Given the description of an element on the screen output the (x, y) to click on. 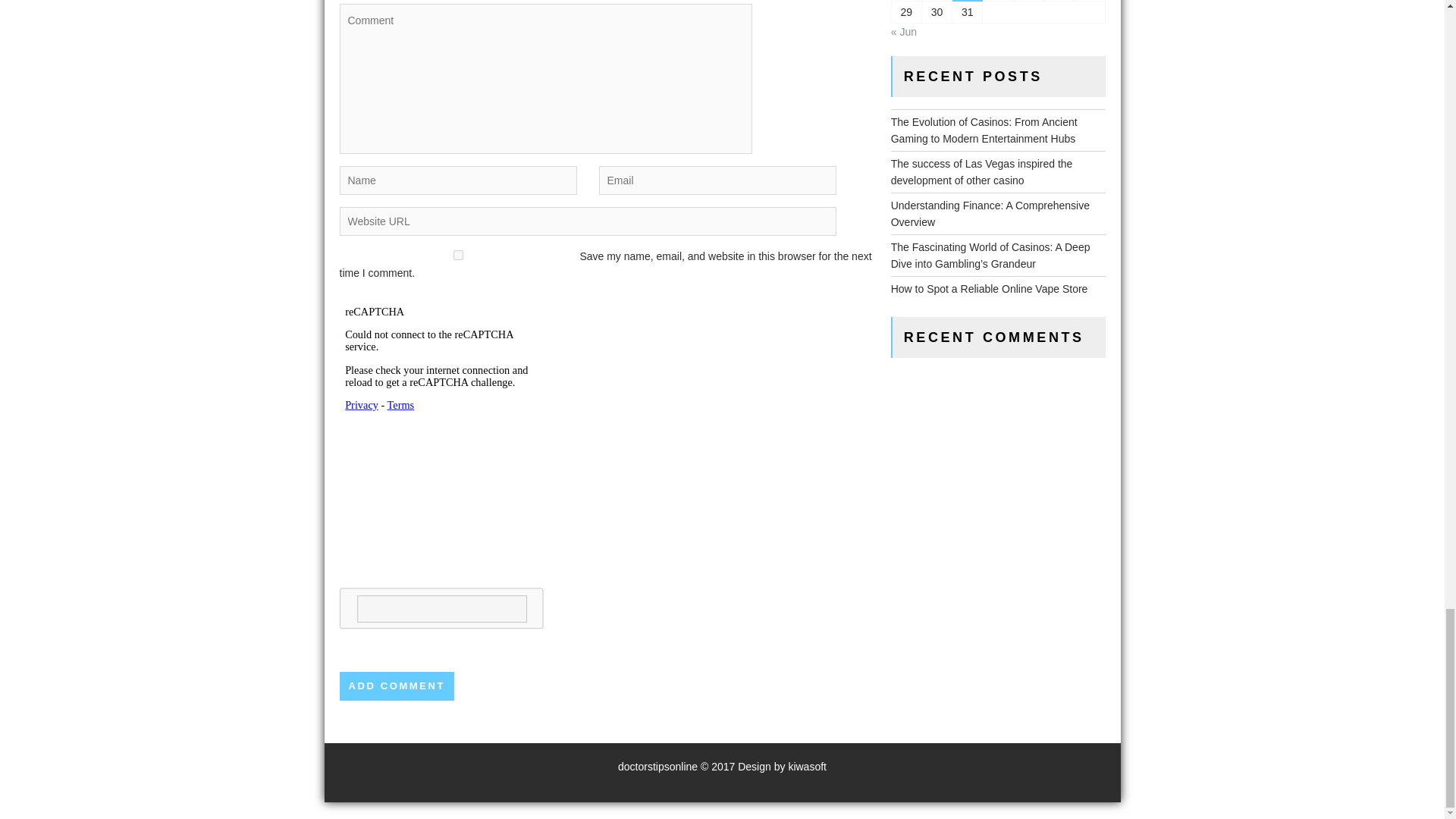
Add Comment (396, 686)
yes (457, 255)
